Given the description of an element on the screen output the (x, y) to click on. 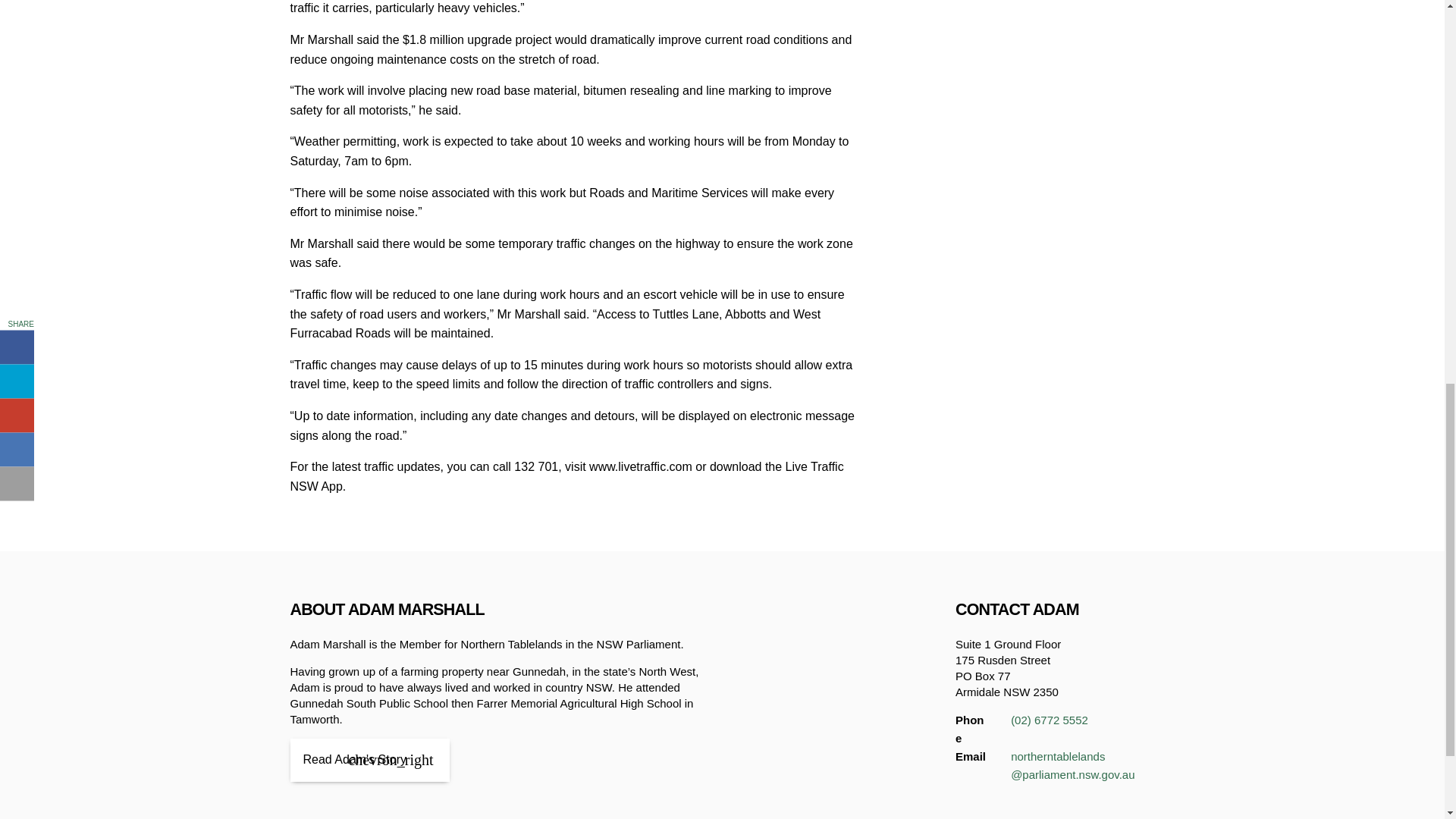
Read Adam's Story (368, 760)
